Given the description of an element on the screen output the (x, y) to click on. 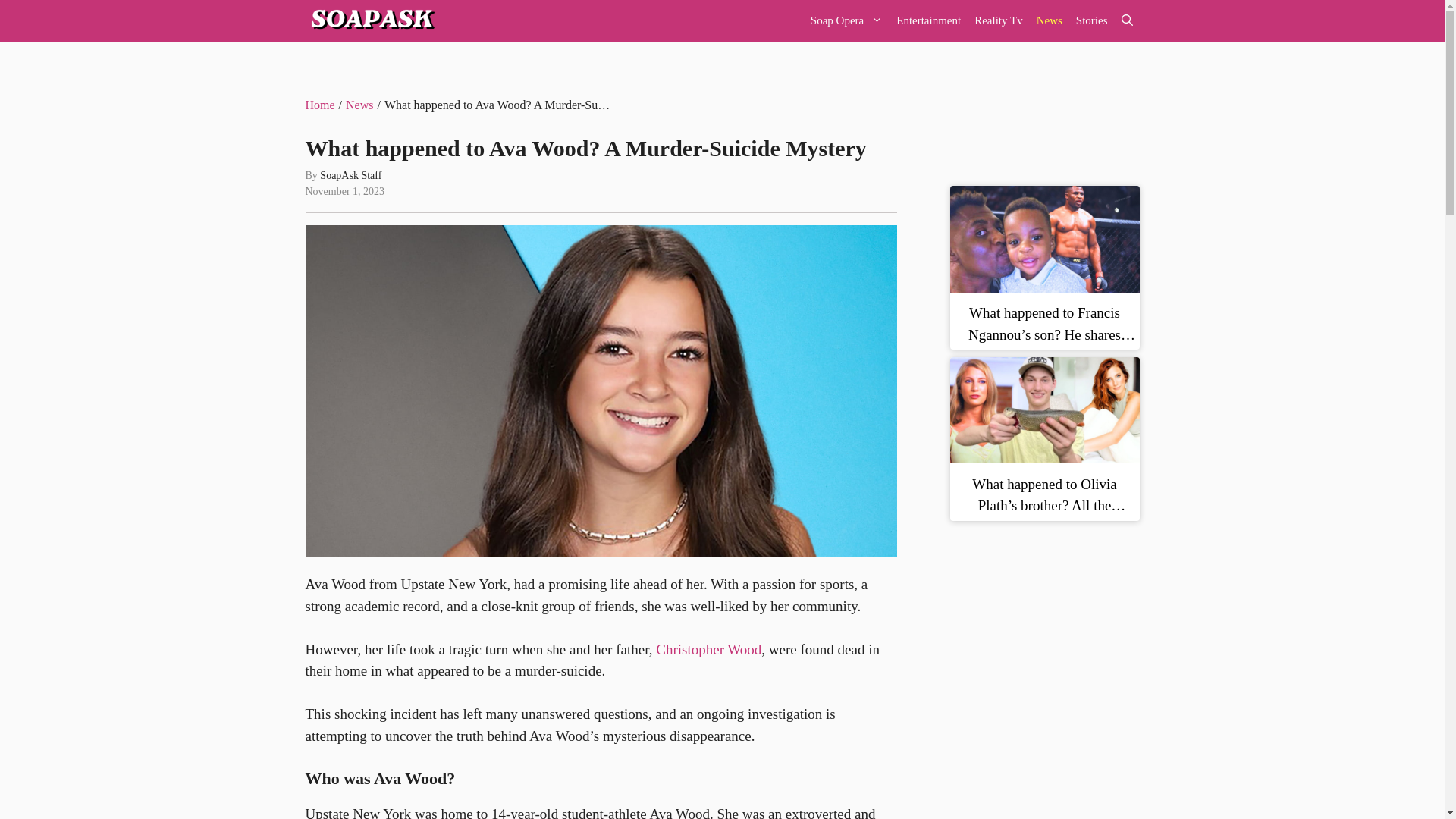
View all posts by SoapAsk Staff (350, 174)
SoapAsk (370, 20)
Soap Opera (846, 20)
